Given the description of an element on the screen output the (x, y) to click on. 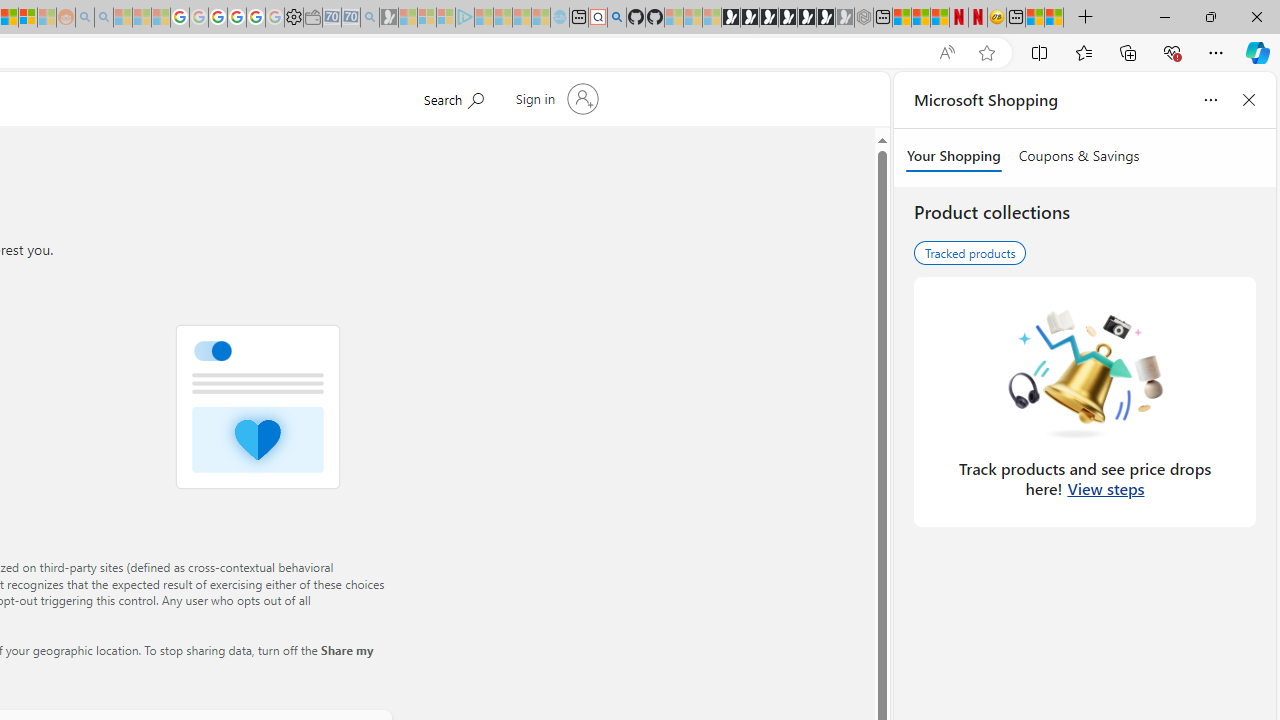
Wildlife - MSN (1035, 17)
